Given the description of an element on the screen output the (x, y) to click on. 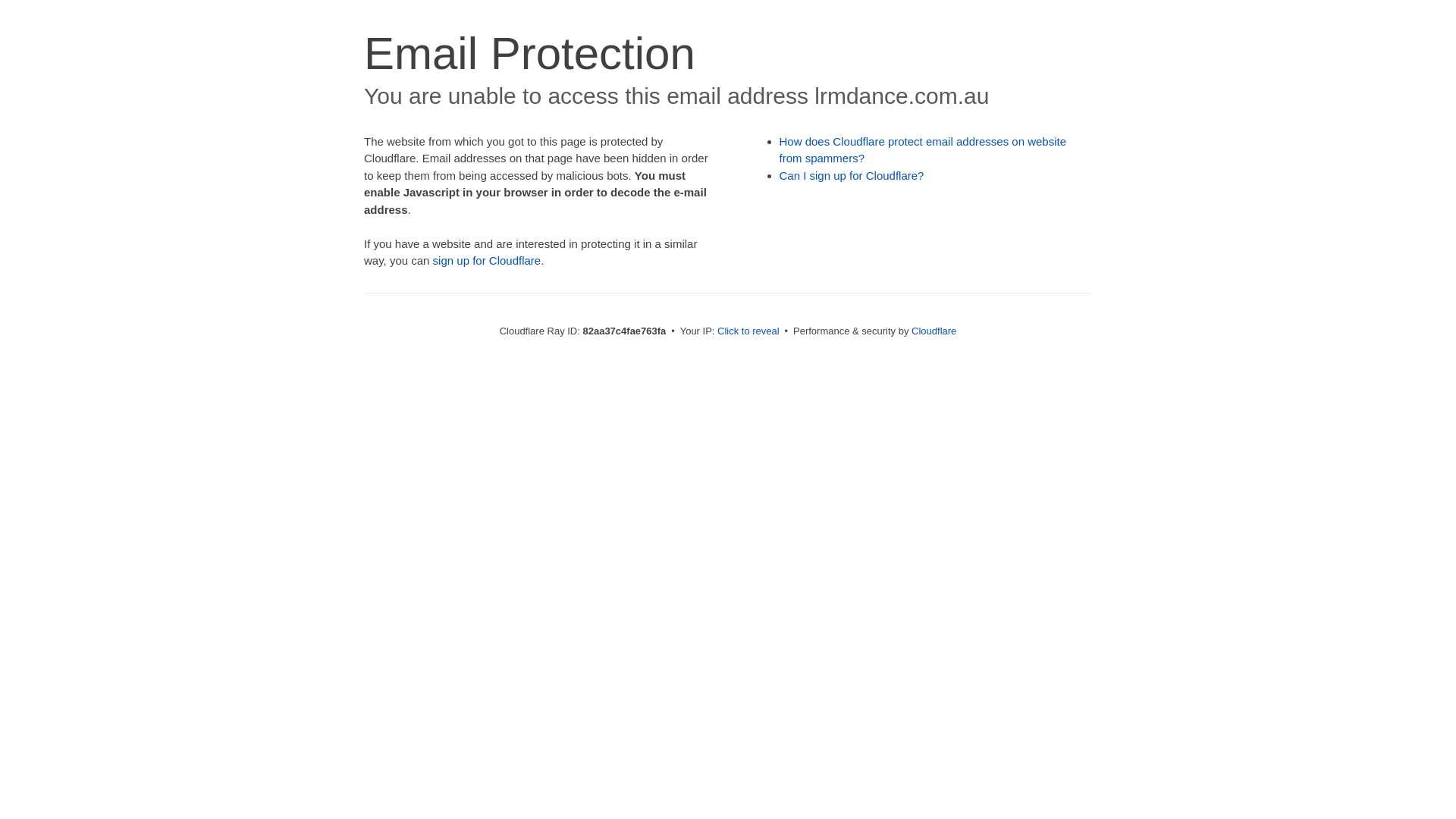
Cloudflare Element type: text (933, 330)
sign up for Cloudflare Element type: text (487, 260)
Can I sign up for Cloudflare? Element type: text (851, 175)
Click to reveal Element type: text (748, 330)
